Given the description of an element on the screen output the (x, y) to click on. 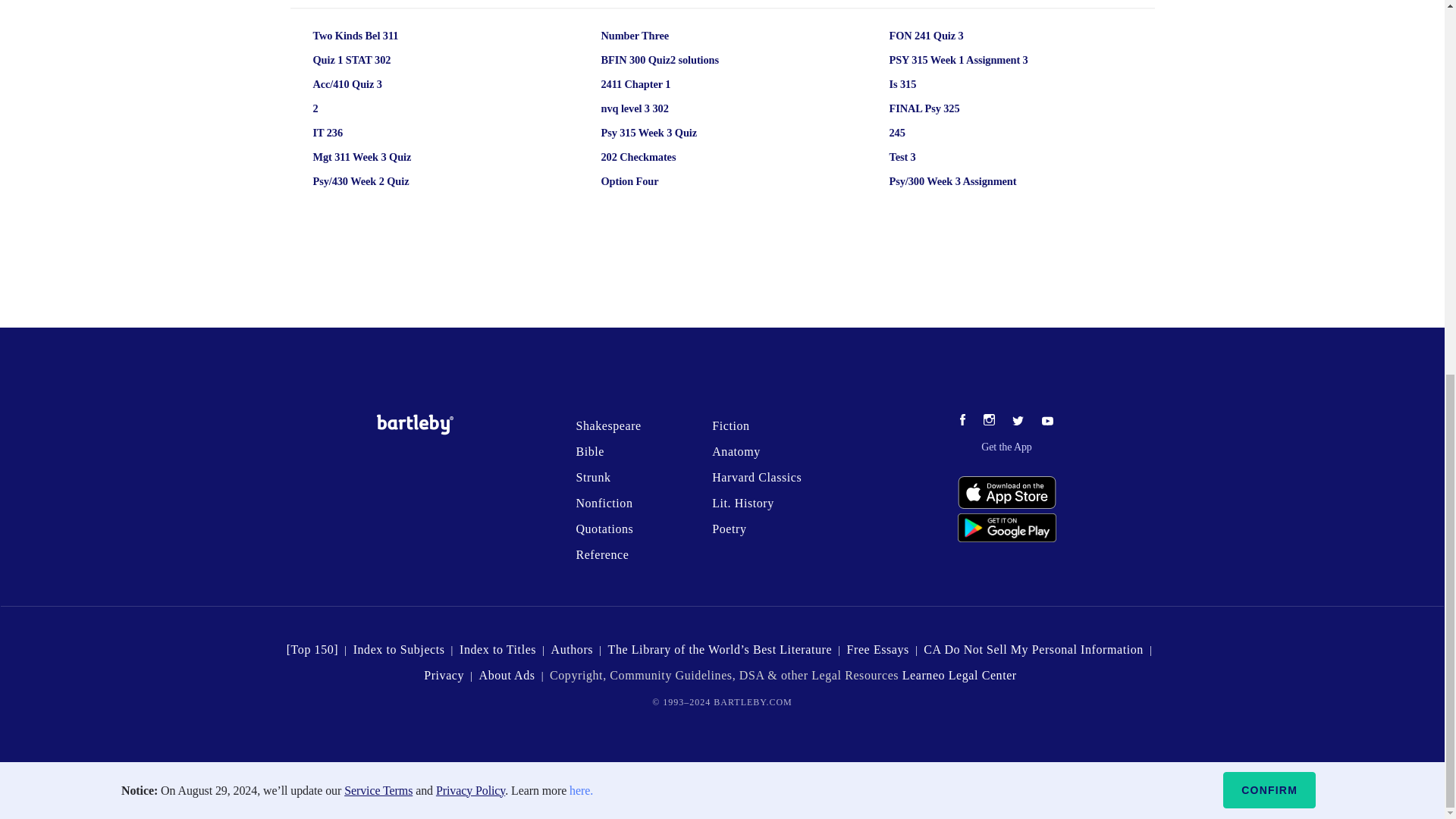
Number Three (699, 36)
2 (411, 108)
Quiz 1 STAT 302 (411, 59)
BFIN 300 Quiz2 solutions (699, 59)
IT 236 (411, 132)
nvq level 3 302 (699, 108)
Is 315 (988, 84)
PSY 315 Week 1 Assignment 3 (988, 59)
FINAL Psy 325 (988, 108)
FON 241 Quiz 3 (988, 36)
